Given the description of an element on the screen output the (x, y) to click on. 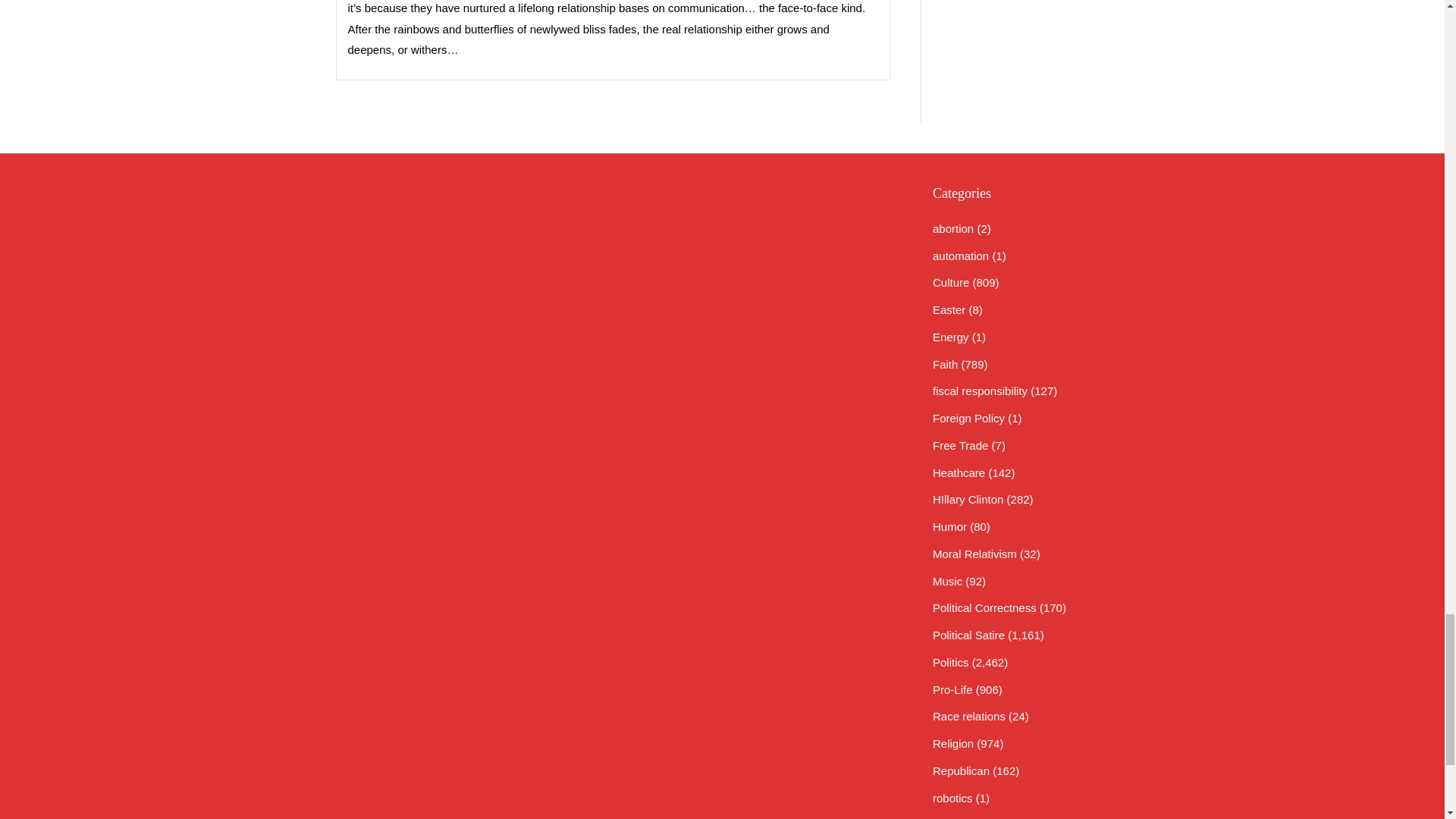
Heathcare (959, 472)
Easter (949, 309)
Energy (951, 336)
Culture (951, 282)
automation (960, 255)
Free Trade (960, 445)
Faith (945, 364)
fiscal responsibility (980, 390)
abortion (953, 228)
Foreign Policy (968, 418)
